Given the description of an element on the screen output the (x, y) to click on. 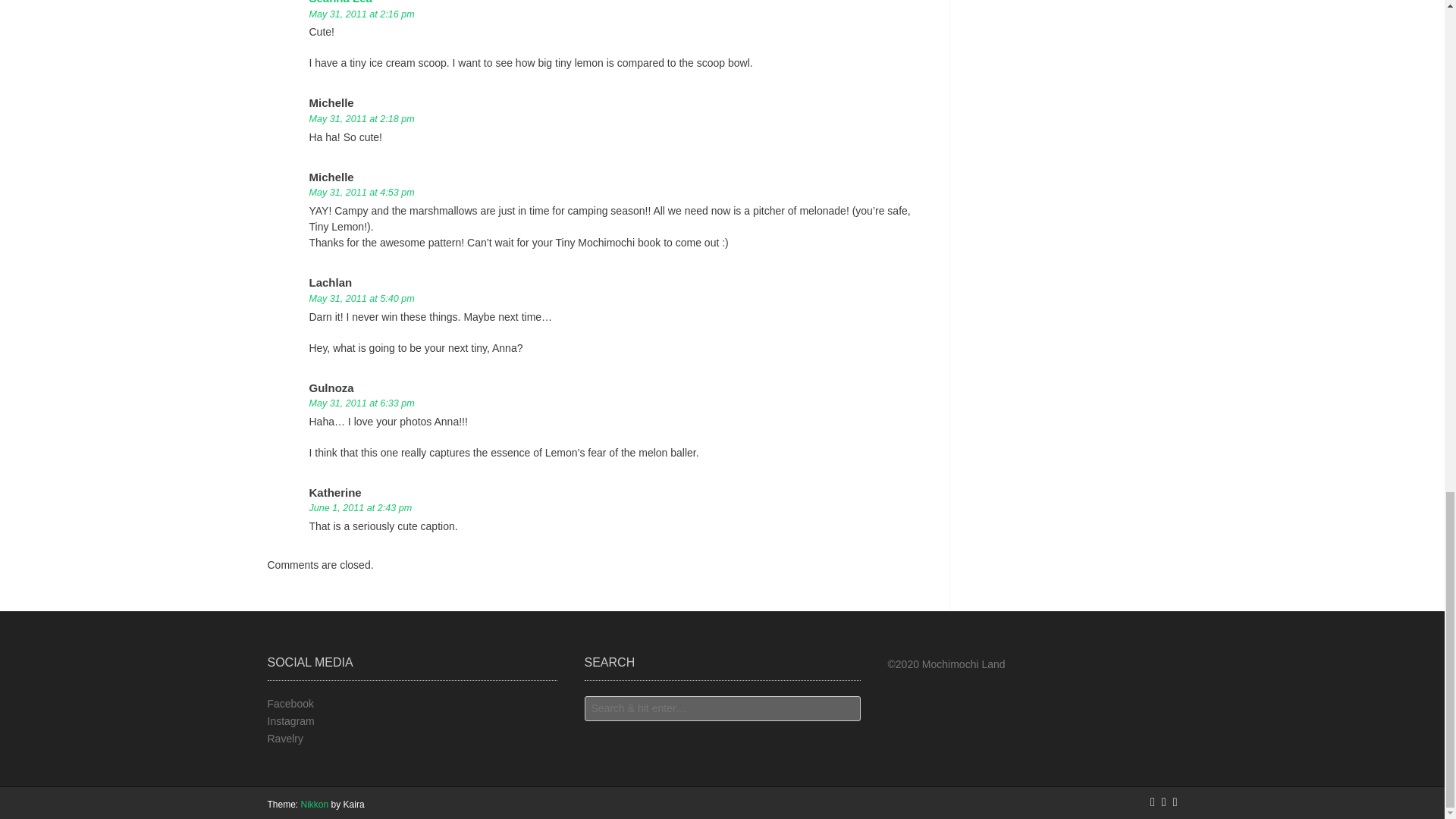
May 31, 2011 at 6:33 pm (361, 403)
Seanna Lea (340, 2)
May 31, 2011 at 5:40 pm (361, 298)
May 31, 2011 at 2:16 pm (361, 14)
May 31, 2011 at 4:53 pm (361, 192)
June 1, 2011 at 2:43 pm (360, 507)
May 31, 2011 at 2:18 pm (361, 118)
